Given the description of an element on the screen output the (x, y) to click on. 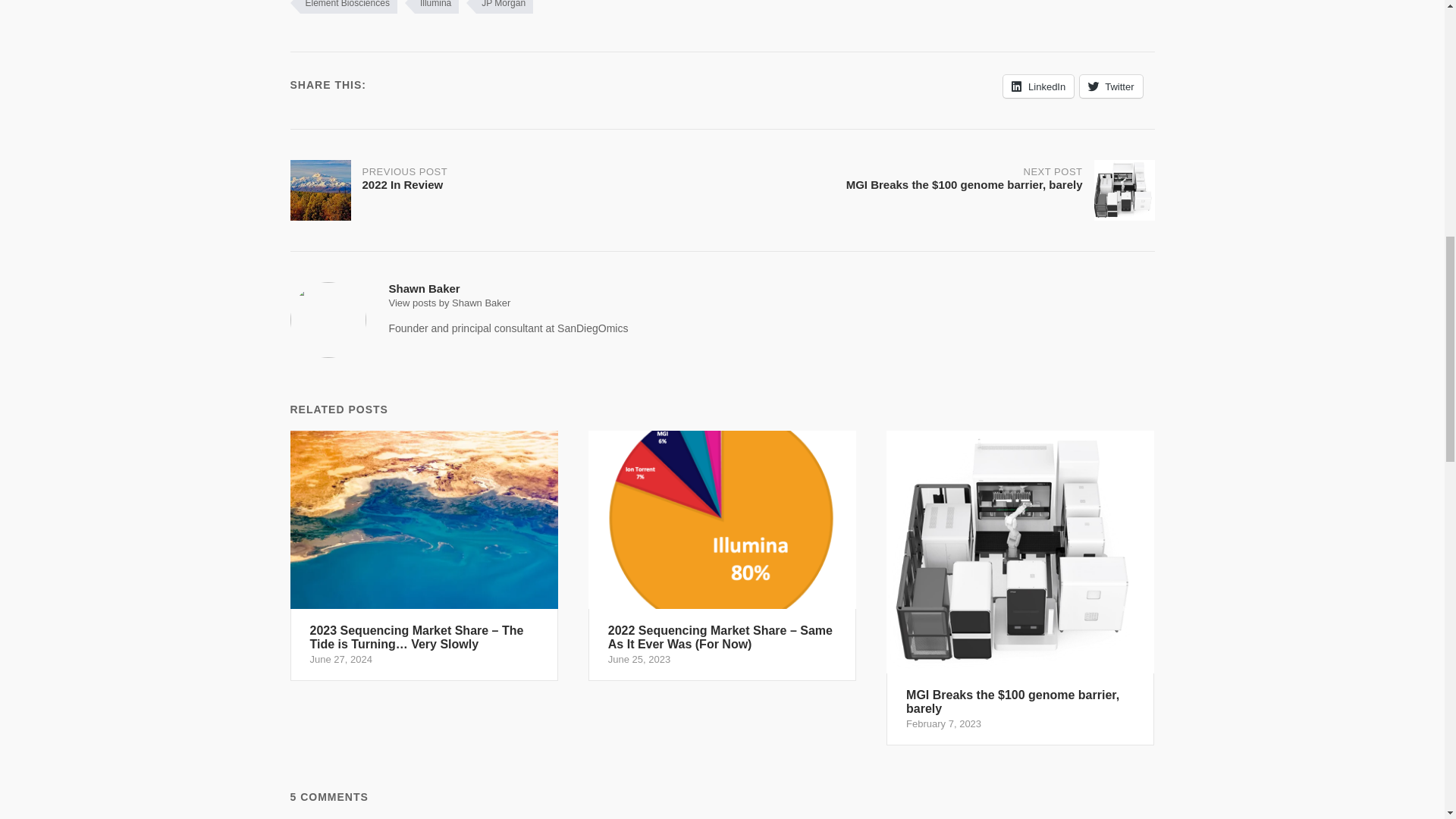
Click to share on LinkedIn (1038, 86)
Illumina (431, 6)
LinkedIn (1038, 86)
Twitter (1110, 86)
JP Morgan (505, 189)
View posts by Shawn Baker (498, 6)
Click to share on Twitter (449, 302)
Element Biosciences (1110, 86)
